Given the description of an element on the screen output the (x, y) to click on. 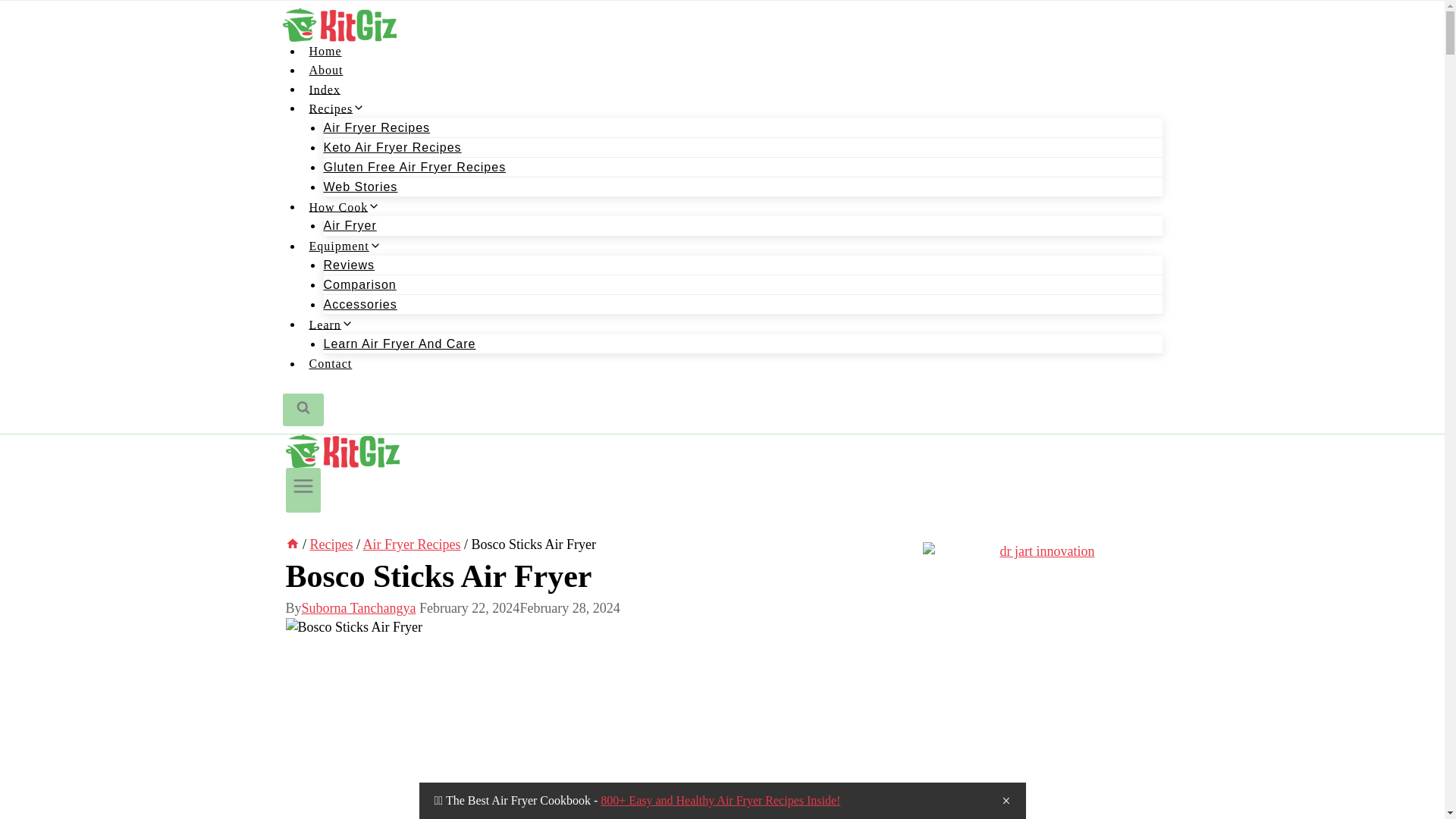
Learn (330, 324)
Recipes (336, 108)
Air Fryer Comparison (359, 284)
Keto Air Fryer Recipes (392, 147)
Necessary Kitchen Accessories (359, 303)
Comparison (359, 284)
Air Fryer Recipes (376, 127)
Contact (330, 363)
Home (324, 50)
Equipment (344, 245)
